Given the description of an element on the screen output the (x, y) to click on. 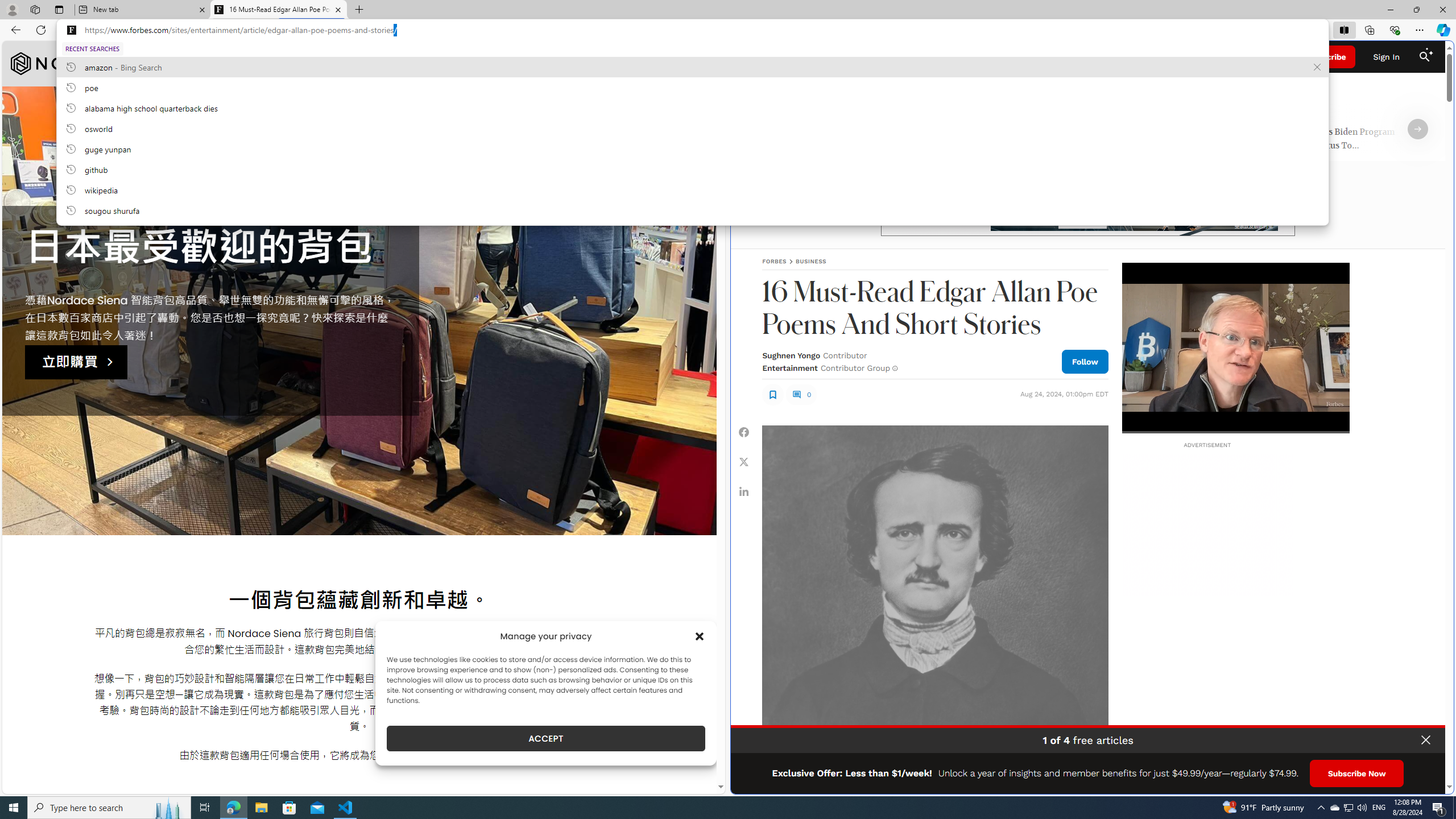
Subscribe (1326, 56)
Class: sElHJWe4 (772, 394)
Class: fs-icon fs-icon--info (894, 368)
github, recent searches from history (691, 168)
guge yunpan, recent searches from history (691, 148)
Class: envelope_svg__fs-icon envelope_svg__fs-icon--envelope (877, 57)
sougou shurufa, recent searches from history (691, 209)
0 (801, 394)
Class: fs-icon fs-icon--xCorp (743, 461)
amazon, recent searches from history (691, 66)
Class: fs-icon fs-icon--Facebook (744, 431)
